Given the description of an element on the screen output the (x, y) to click on. 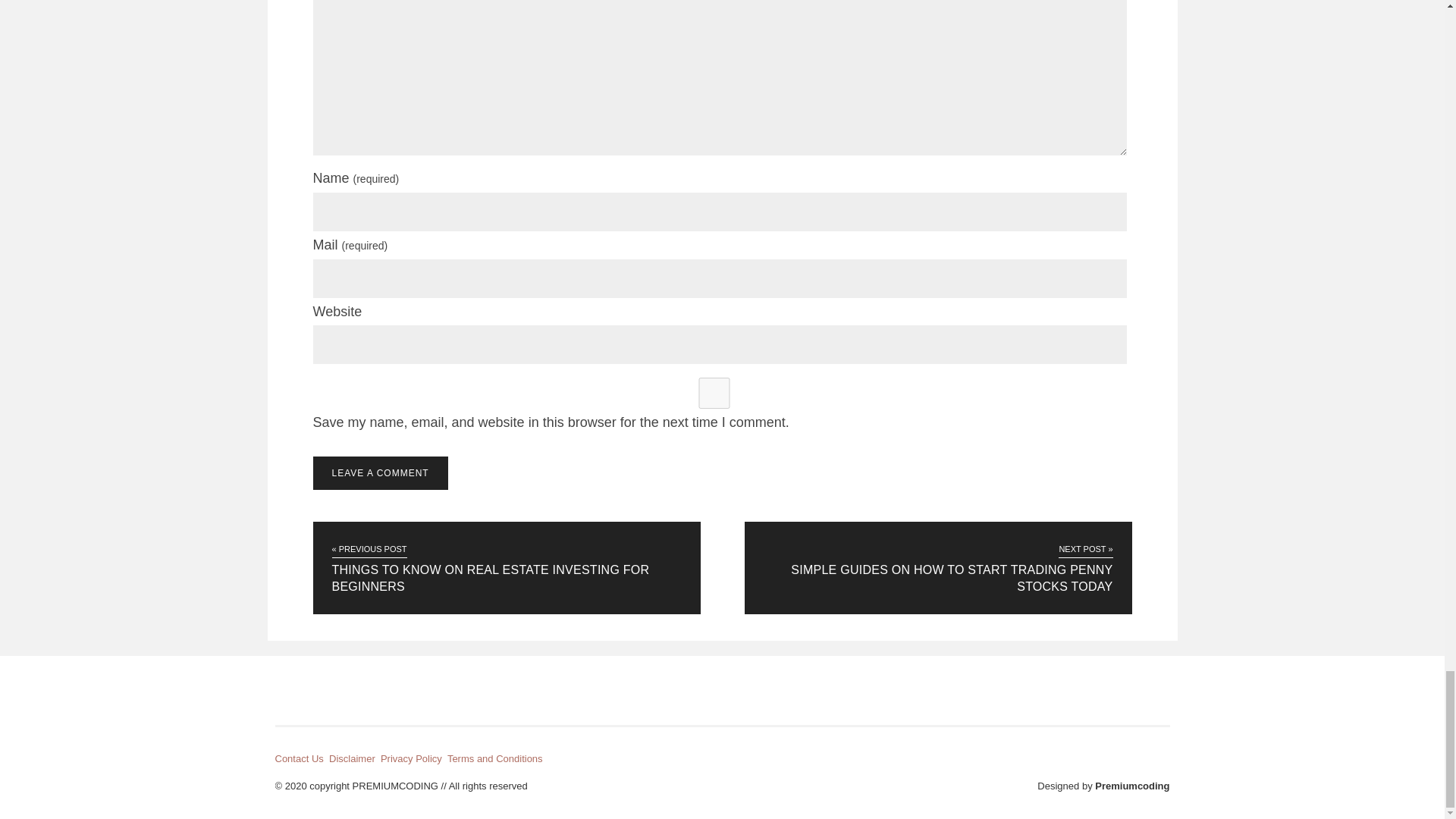
yes (714, 392)
Leave a Comment (379, 472)
